Given the description of an element on the screen output the (x, y) to click on. 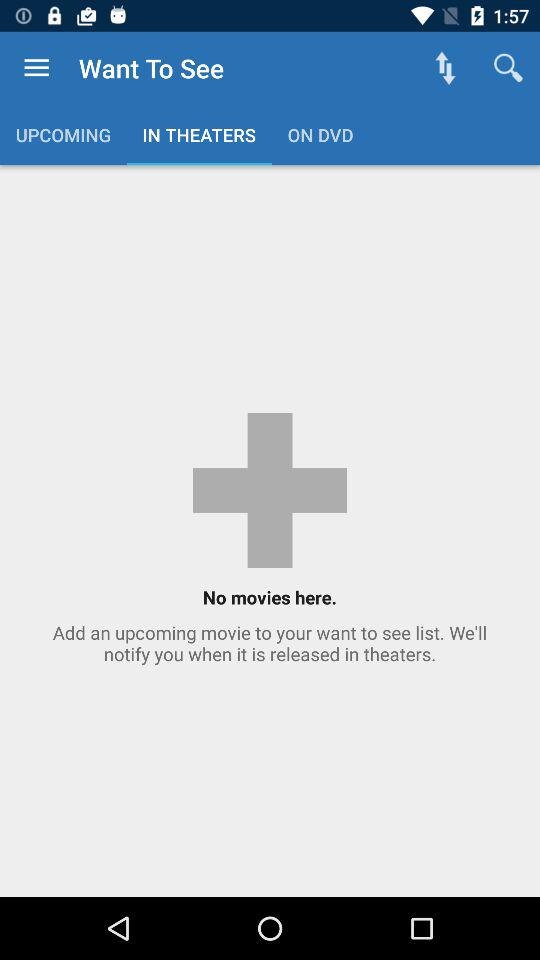
launch item to the left of the want to see item (36, 68)
